Given the description of an element on the screen output the (x, y) to click on. 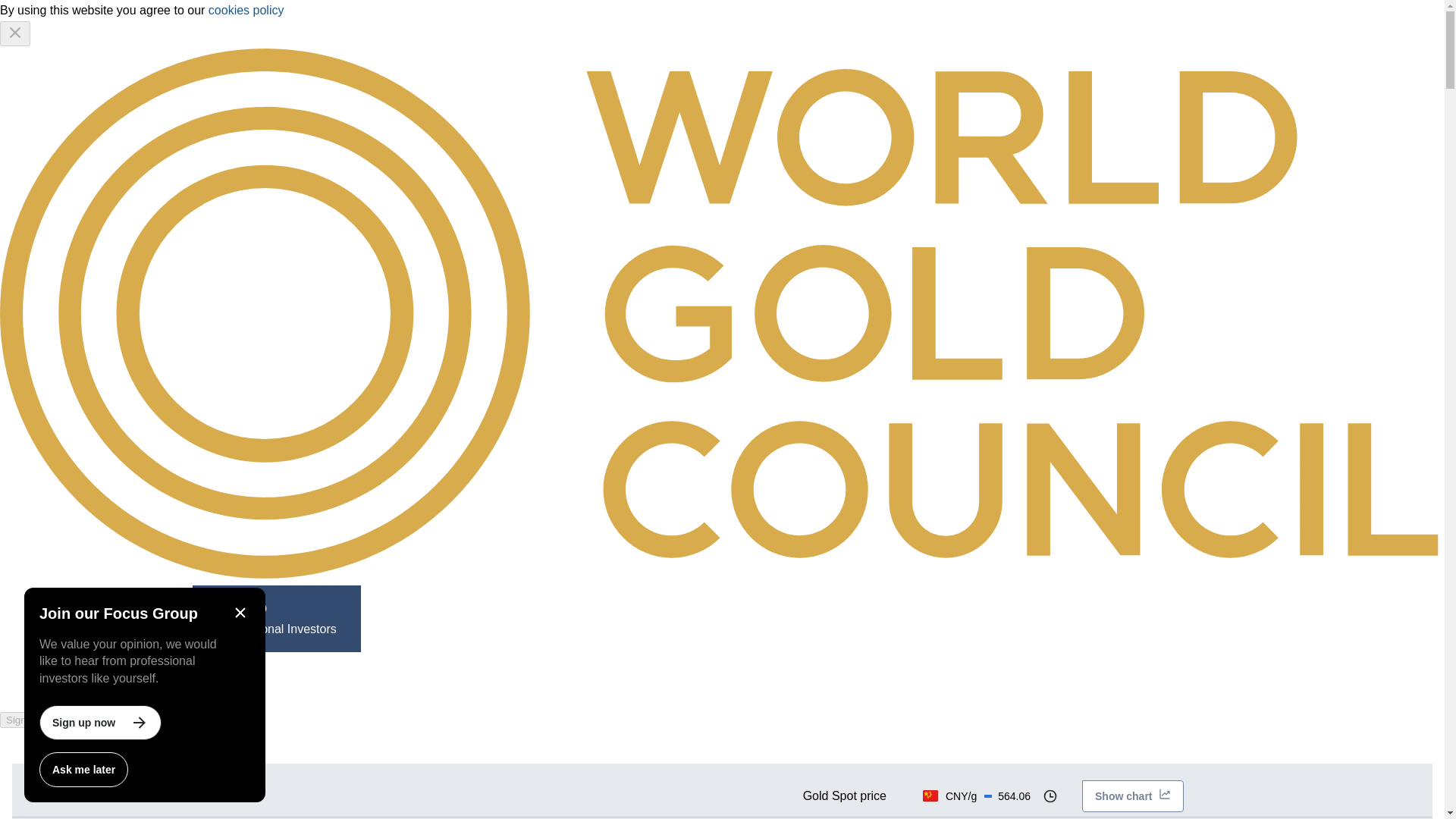
cookies policy (275, 618)
Research (440, 618)
Gold Spot price (245, 10)
Social commentary about gold (87, 752)
Insights (844, 795)
Show chart (370, 752)
Global (370, 752)
